Given the description of an element on the screen output the (x, y) to click on. 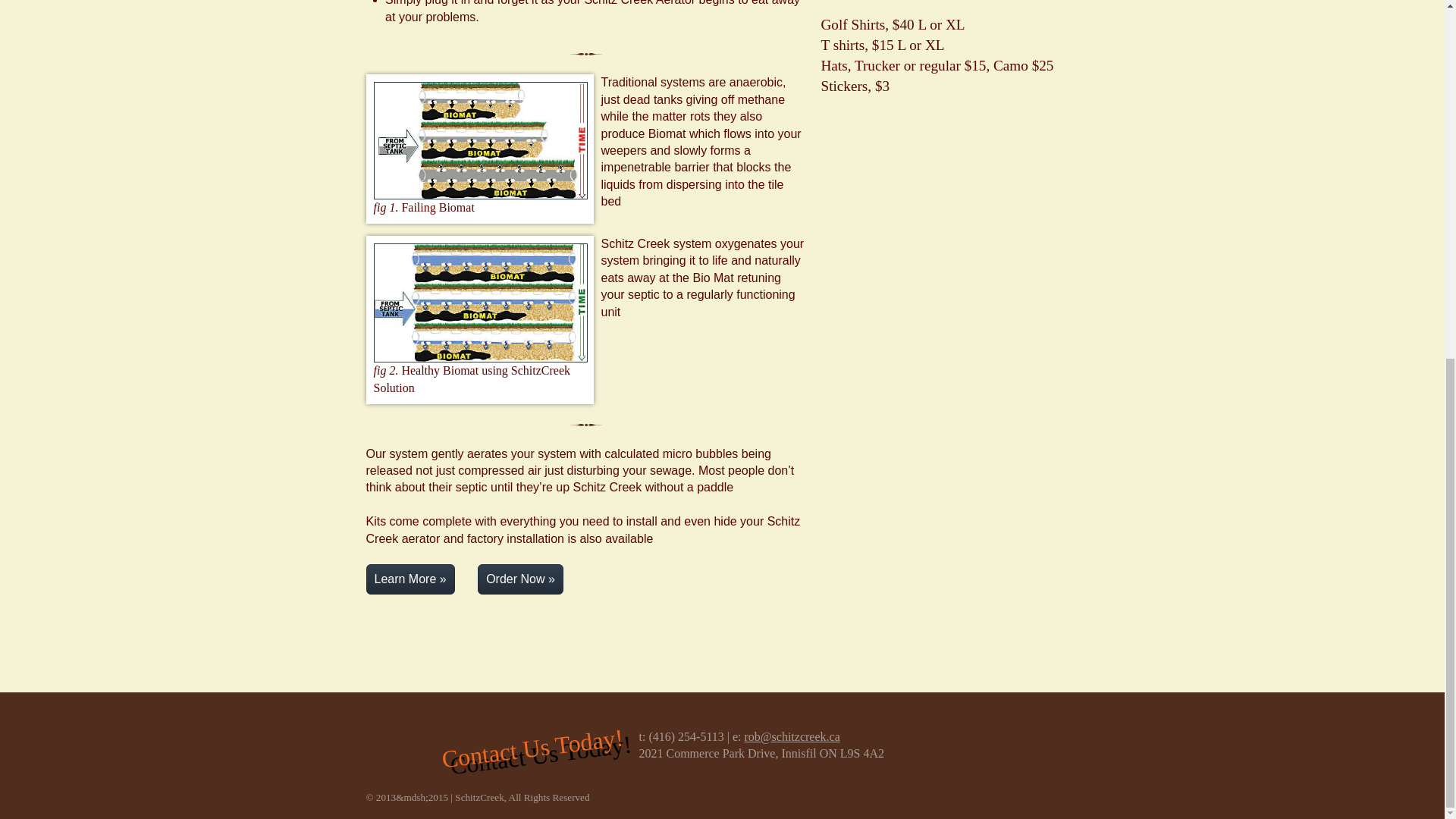
Order your complete Aeration Kit Now (520, 579)
Septic system information (409, 579)
